Given the description of an element on the screen output the (x, y) to click on. 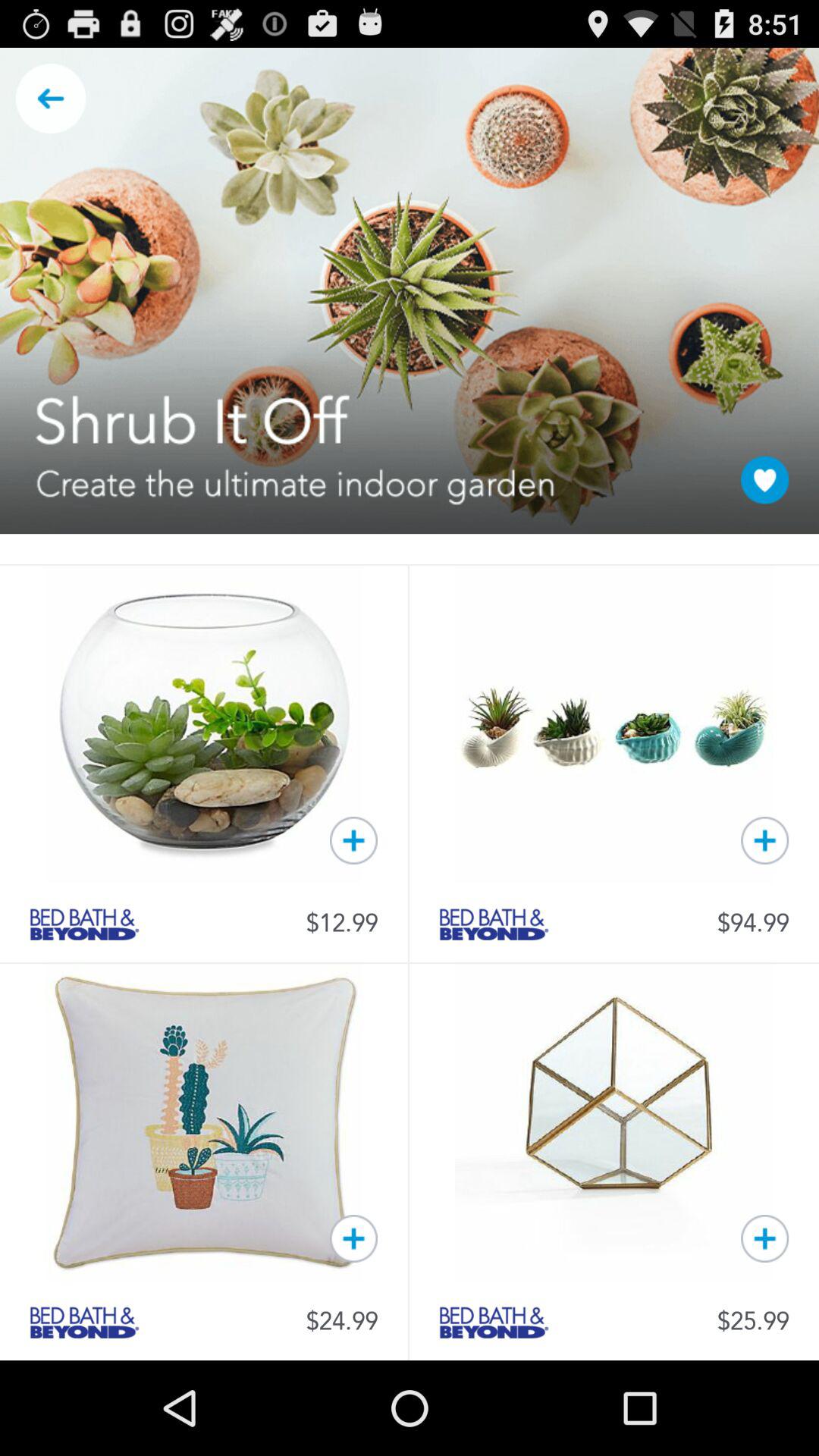
go to link (84, 924)
